Given the description of an element on the screen output the (x, y) to click on. 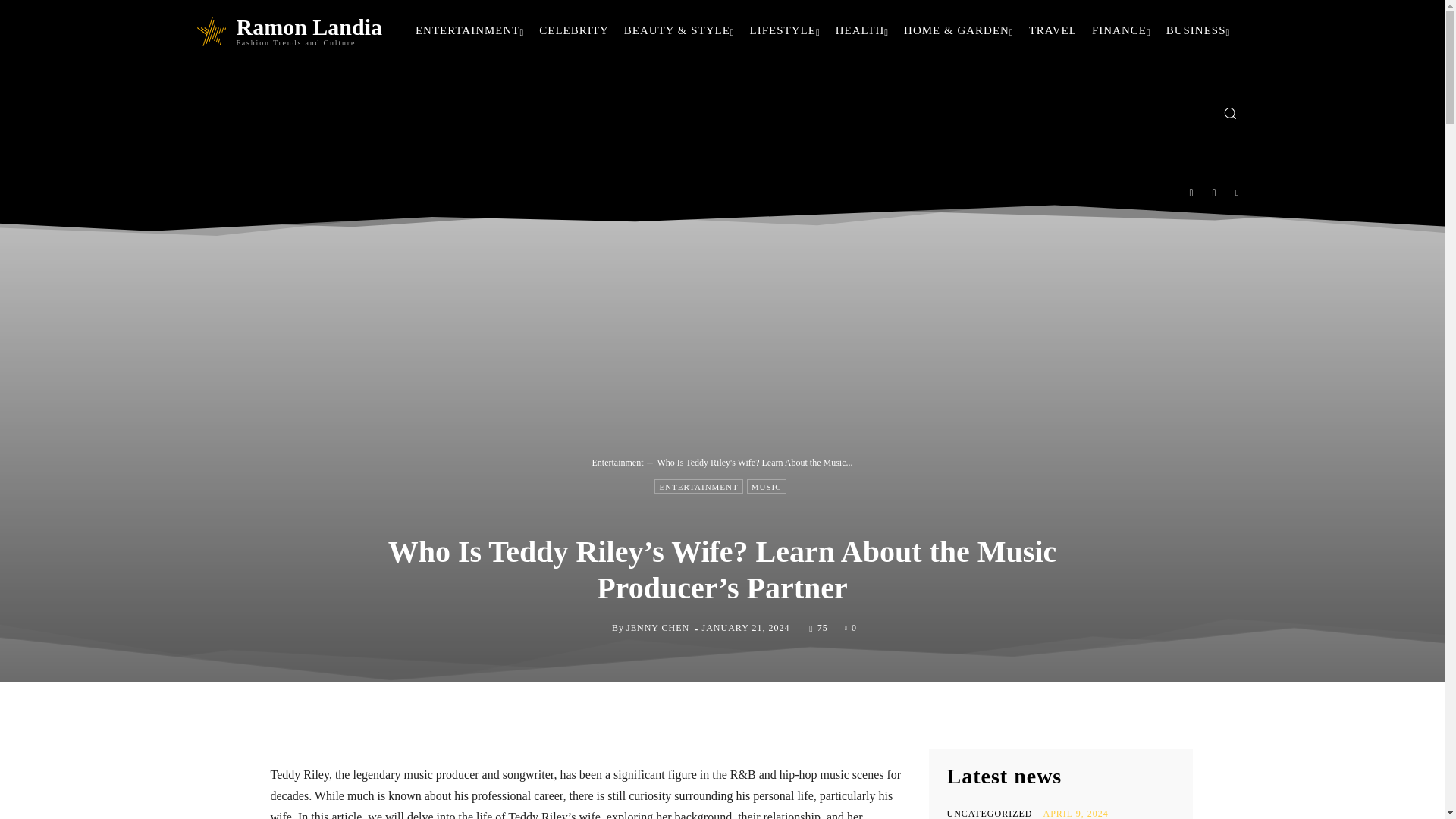
Twitter (1237, 192)
Jenny Chen (599, 628)
View all posts in Entertainment (617, 462)
Facebook (1191, 192)
Instagram (1214, 192)
